Given the description of an element on the screen output the (x, y) to click on. 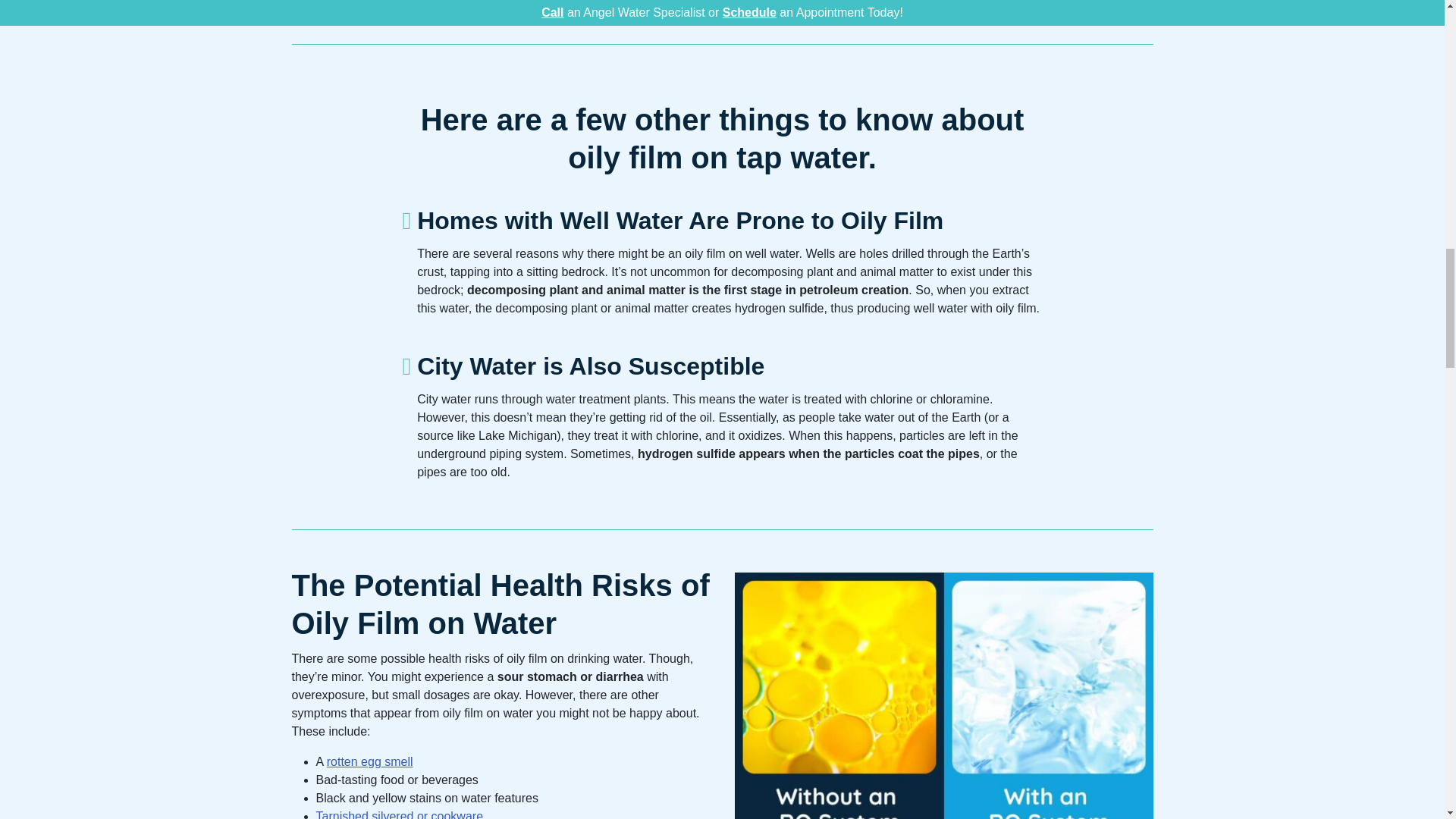
Oily Film on Water Graphic Angel Water (943, 695)
